Given the description of an element on the screen output the (x, y) to click on. 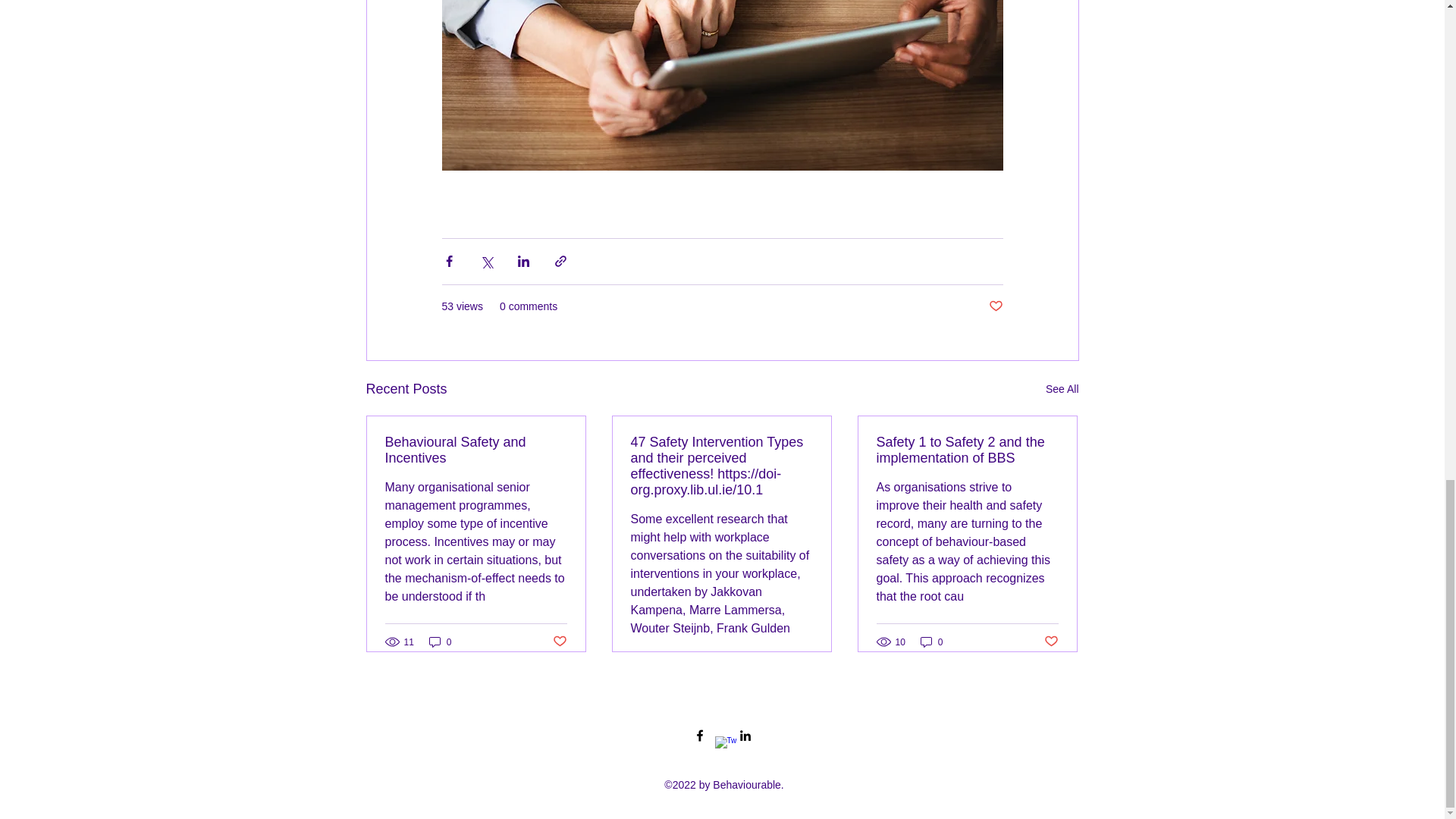
0 (440, 641)
See All (1061, 389)
Post not marked as liked (558, 641)
Post not marked as liked (1050, 641)
Safety 1 to Safety 2 and the implementation of BBS (967, 450)
0 (931, 641)
Post not marked as liked (995, 306)
Behavioural Safety and Incentives (476, 450)
